Given the description of an element on the screen output the (x, y) to click on. 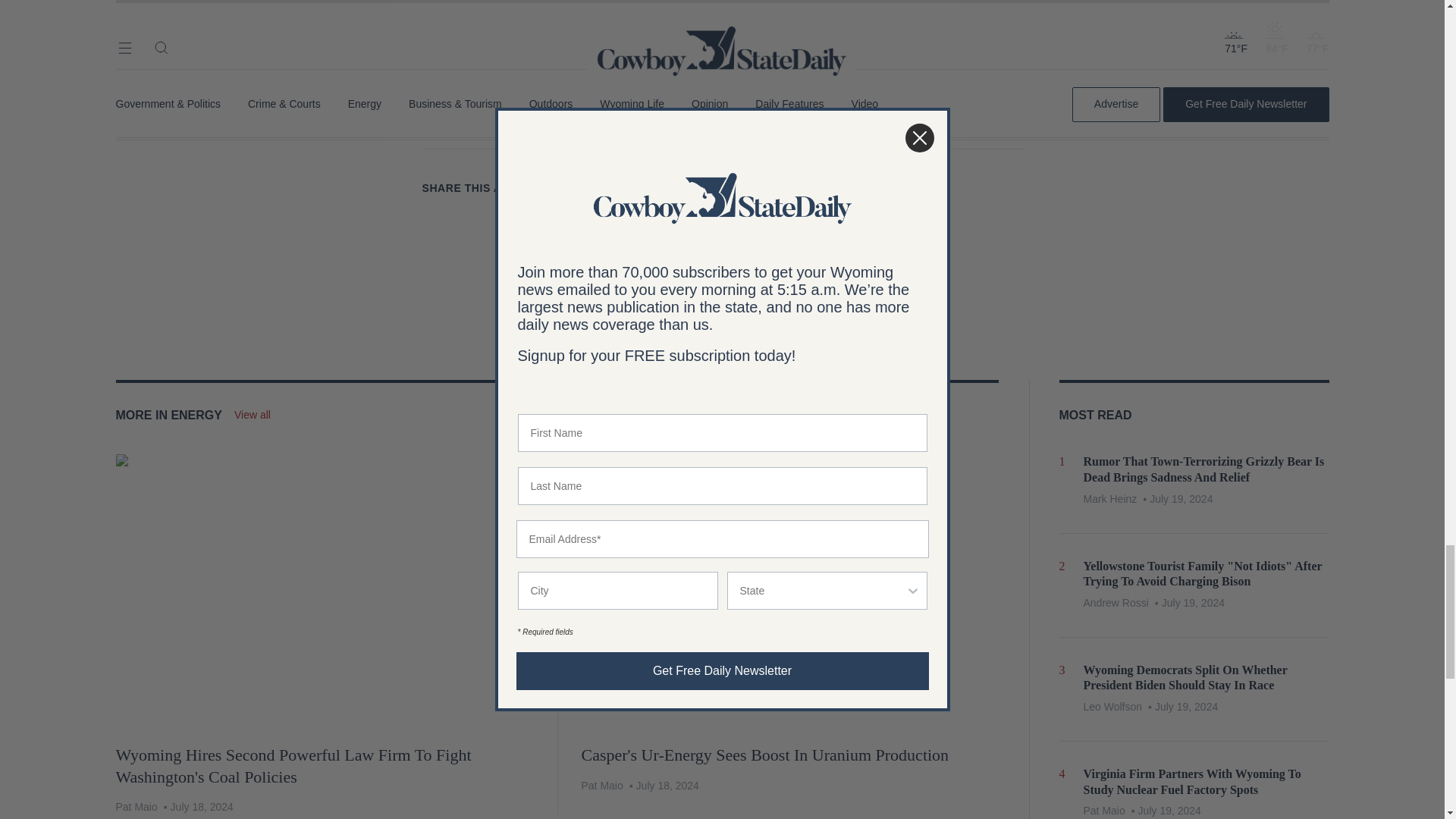
Copy to clipboard (664, 188)
